Given the description of an element on the screen output the (x, y) to click on. 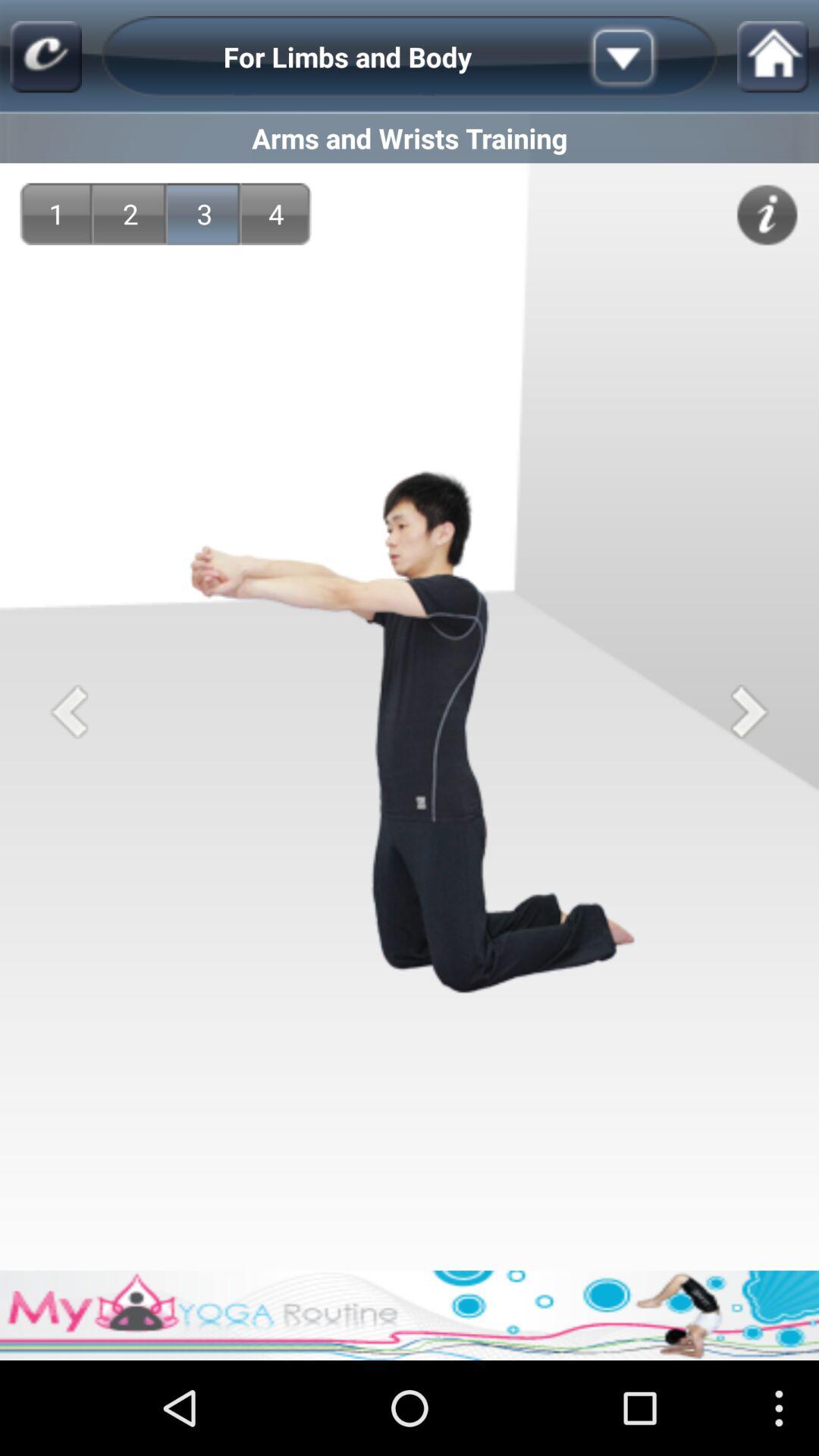
tap the 2 app (130, 214)
